Given the description of an element on the screen output the (x, y) to click on. 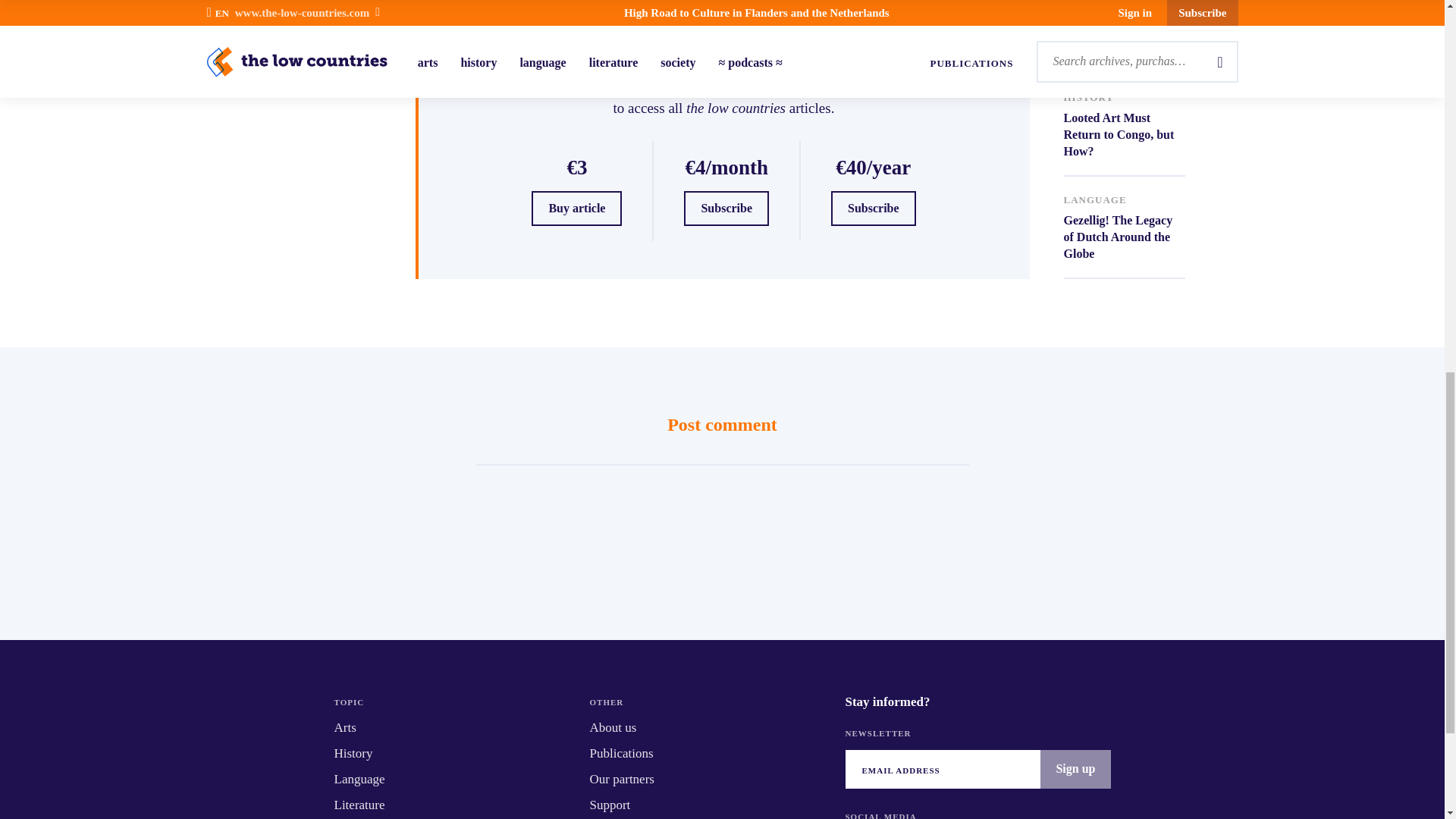
Subscribe (726, 208)
Sign up (1075, 768)
Subscribe (1123, 202)
Buy article (1123, 100)
